Given the description of an element on the screen output the (x, y) to click on. 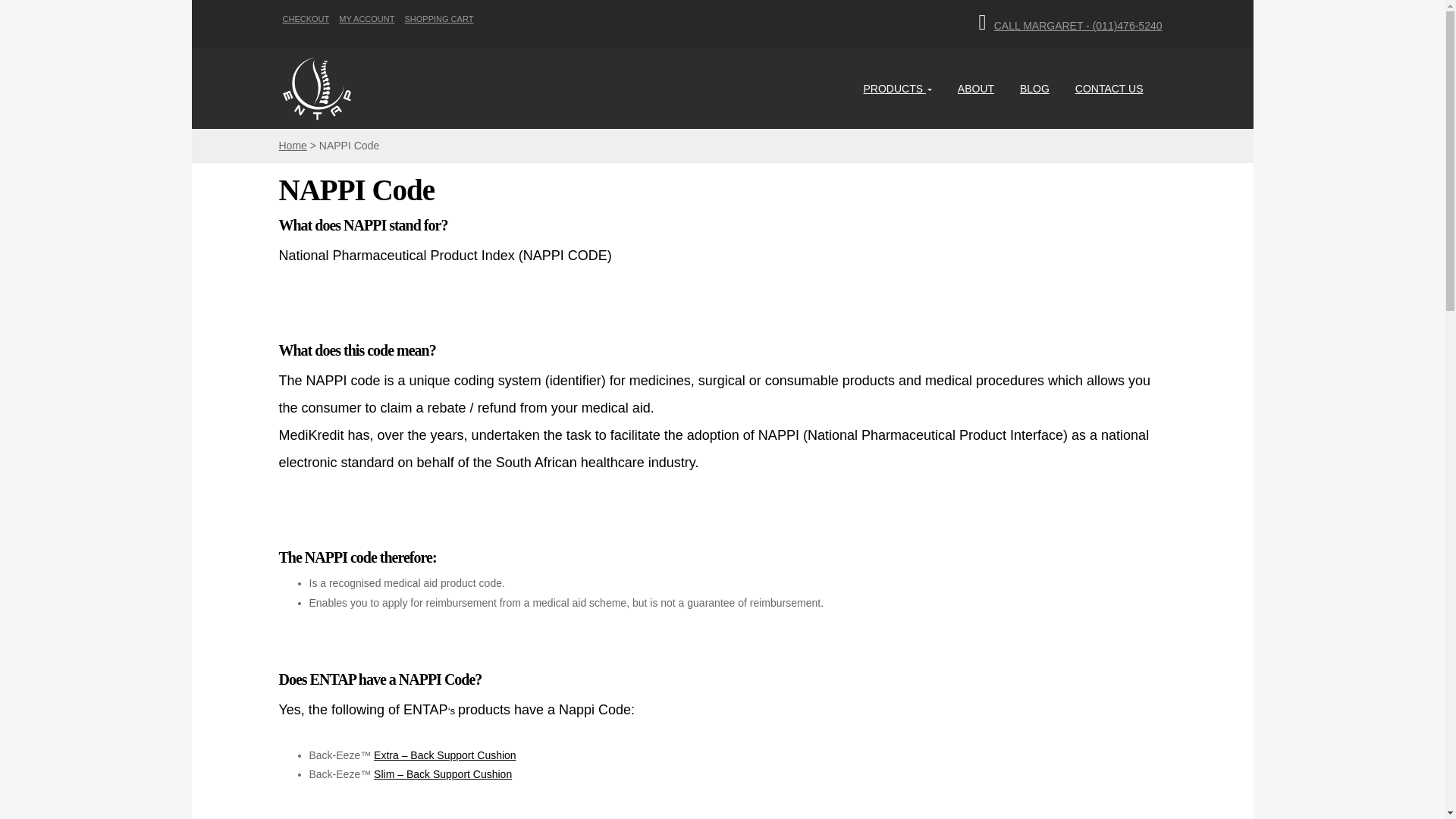
SHOPPING CART (439, 18)
CHECKOUT (305, 18)
Home (293, 145)
MY ACCOUNT (366, 18)
PRODUCTS (897, 88)
CONTACT US (1108, 88)
ABOUT (976, 88)
